Given the description of an element on the screen output the (x, y) to click on. 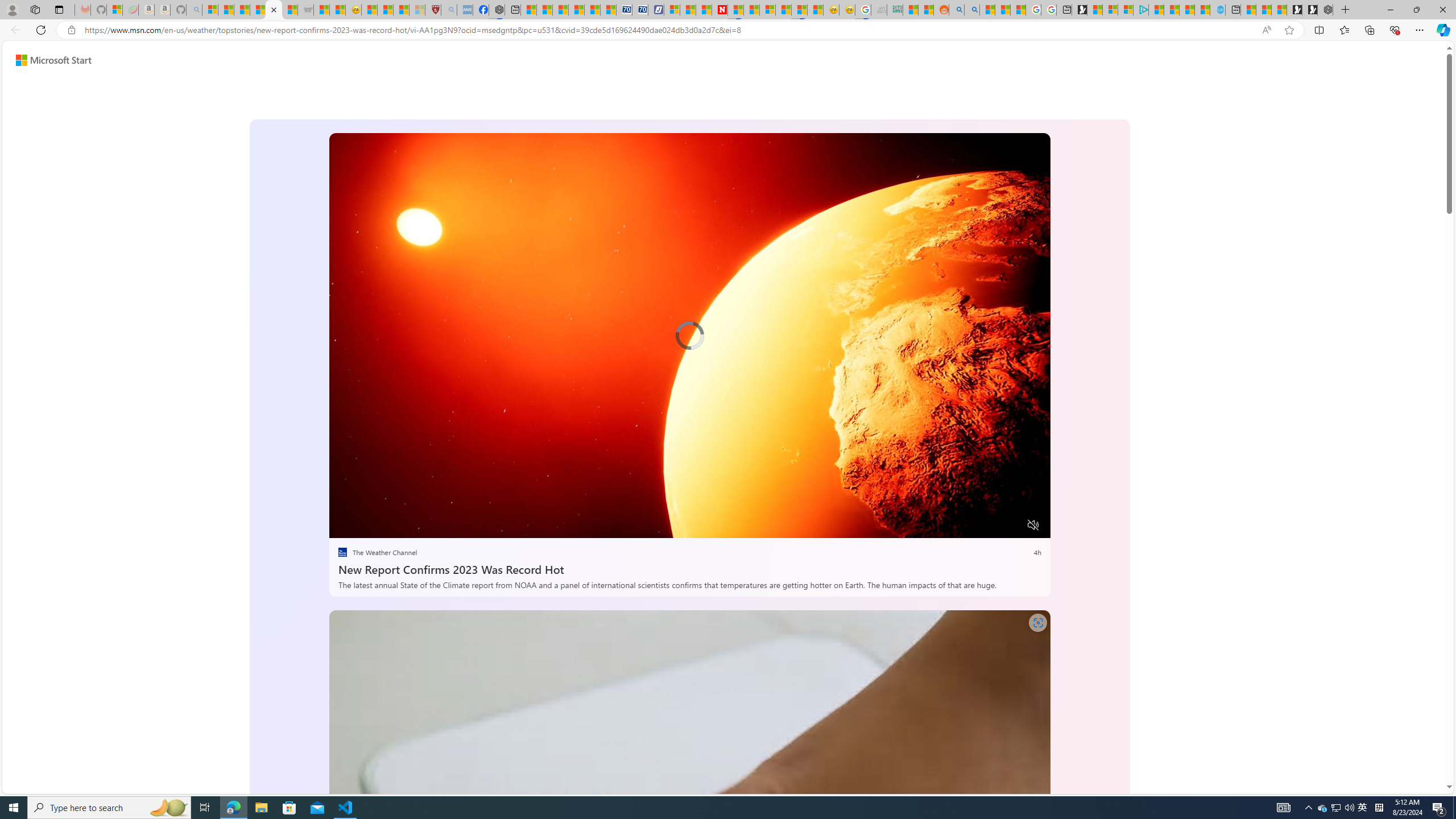
Cheap Car Rentals - Save70.com (624, 9)
Recipes - MSN (368, 9)
New Report Confirms 2023 Was Record Hot | Watch (273, 9)
Cheap Hotels - Save70.com (639, 9)
Fullscreen (1011, 525)
